Given the description of an element on the screen output the (x, y) to click on. 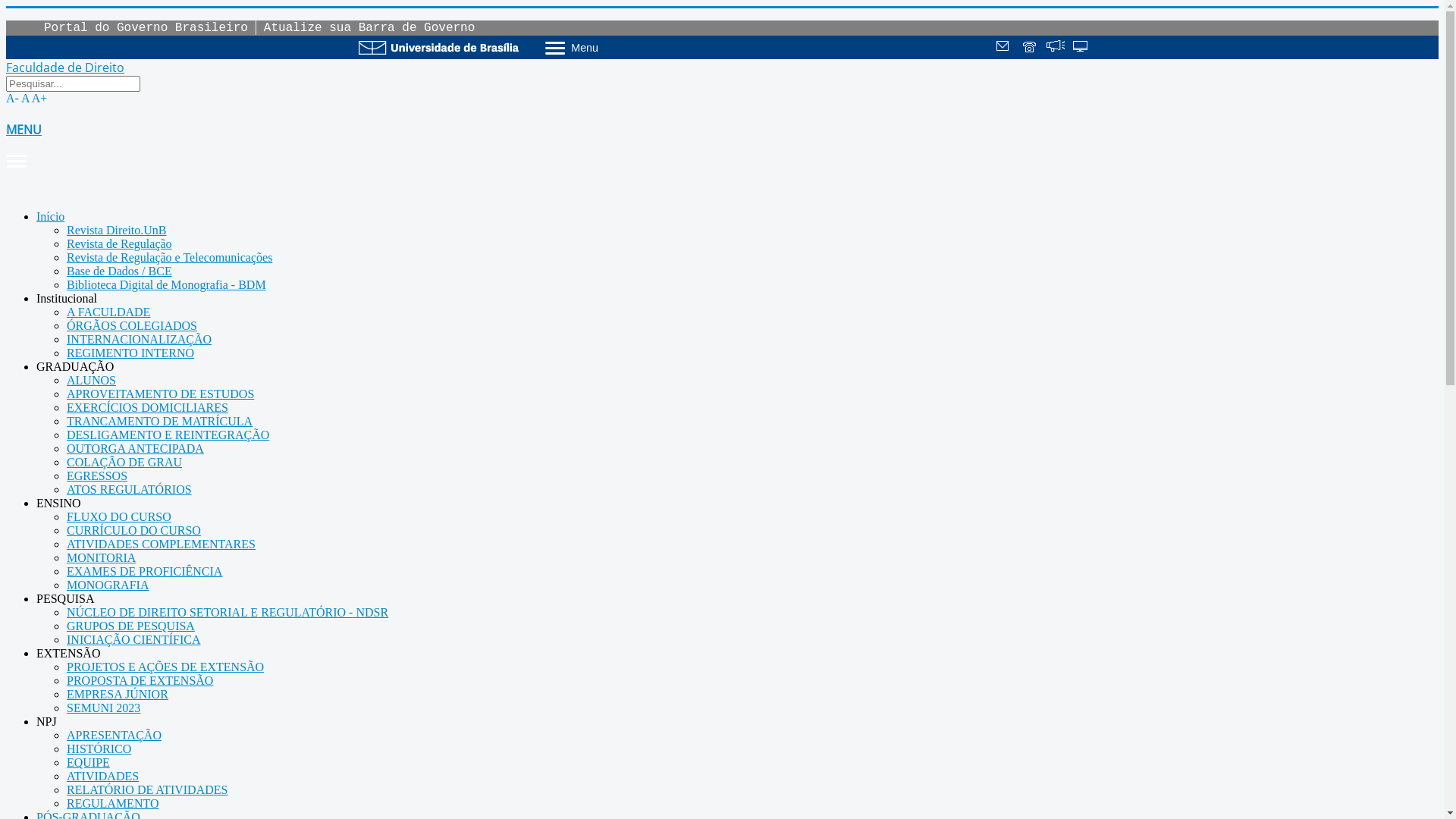
A- Element type: text (12, 97)
  Element type: text (1030, 47)
ALUNOS Element type: text (91, 379)
Ir para o Portal da UnB Element type: hover (438, 46)
APROVEITAMENTO DE ESTUDOS Element type: text (160, 393)
EGRESSOS Element type: text (96, 475)
A Element type: text (25, 97)
OUTORGA ANTECIPADA Element type: text (134, 448)
Atualize sua Barra de Governo Element type: text (368, 27)
  Element type: text (1004, 47)
Menu Element type: text (610, 46)
MENU Element type: text (722, 145)
Biblioteca Digital de Monografia - BDM Element type: text (166, 284)
Base de Dados / BCE Element type: text (119, 270)
Portal do Governo Brasileiro Element type: text (145, 27)
GRUPOS DE PESQUISA Element type: text (130, 625)
REGULAMENTO Element type: text (112, 803)
Fala.BR Element type: hover (1055, 47)
  Element type: text (1055, 47)
Revista Direito.UnB Element type: text (116, 229)
REGIMENTO INTERNO Element type: text (130, 352)
SEMUNI 2023 Element type: text (103, 707)
FLUXO DO CURSO Element type: text (118, 516)
Webmail Element type: hover (1004, 47)
EQUIPE Element type: text (87, 762)
A+ Element type: text (39, 97)
Telefones da UnB Element type: hover (1030, 47)
  Element type: text (1081, 47)
A FACULDADE Element type: text (108, 311)
Faculdade de Direito Element type: text (65, 67)
Sistemas Element type: hover (1081, 47)
ATIVIDADES Element type: text (102, 775)
MONITORIA Element type: text (100, 557)
MONOGRAFIA Element type: text (107, 584)
ATIVIDADES COMPLEMENTARES Element type: text (160, 543)
